Given the description of an element on the screen output the (x, y) to click on. 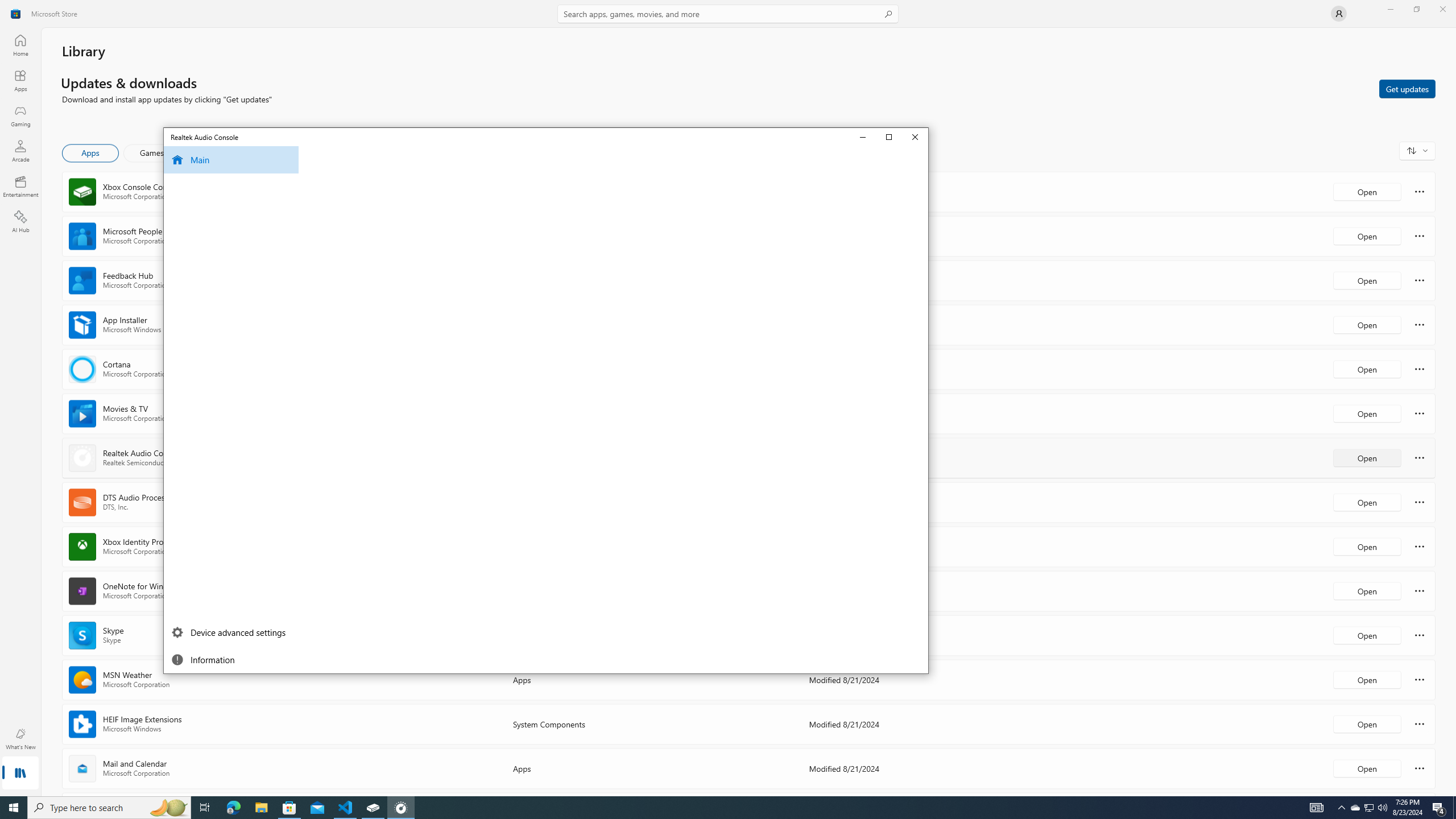
Search (727, 13)
Task View (204, 807)
AutomationID: 4105 (1316, 807)
Q2790: 100% (1382, 807)
Maximize Realtek Audio Console (889, 136)
Search highlights icon opens search home window (167, 807)
Information (230, 659)
Notification Chevron (1341, 807)
Running applications (717, 807)
